Given the description of an element on the screen output the (x, y) to click on. 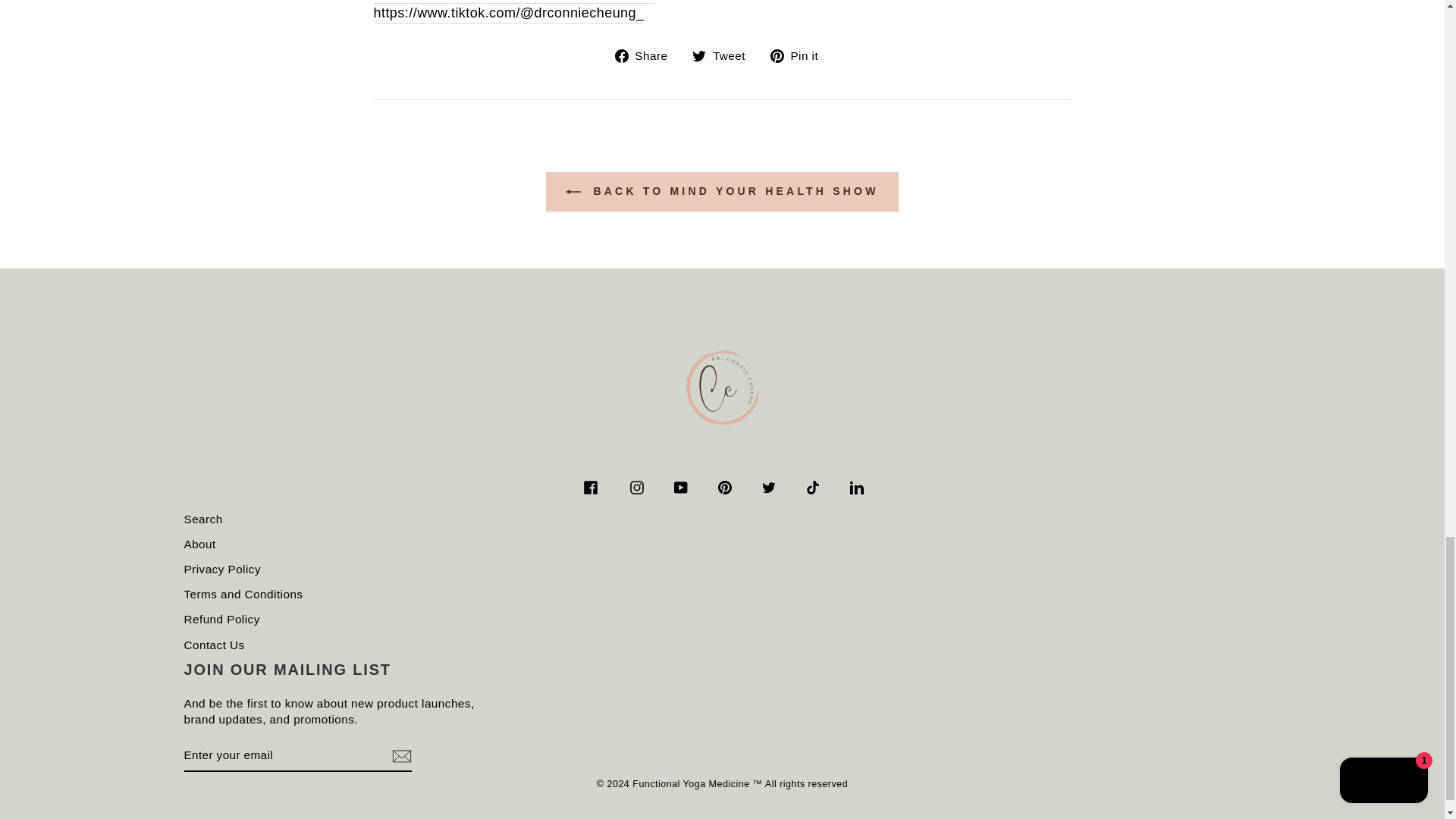
Share on Facebook (646, 55)
Tweet on Twitter (725, 55)
